Given the description of an element on the screen output the (x, y) to click on. 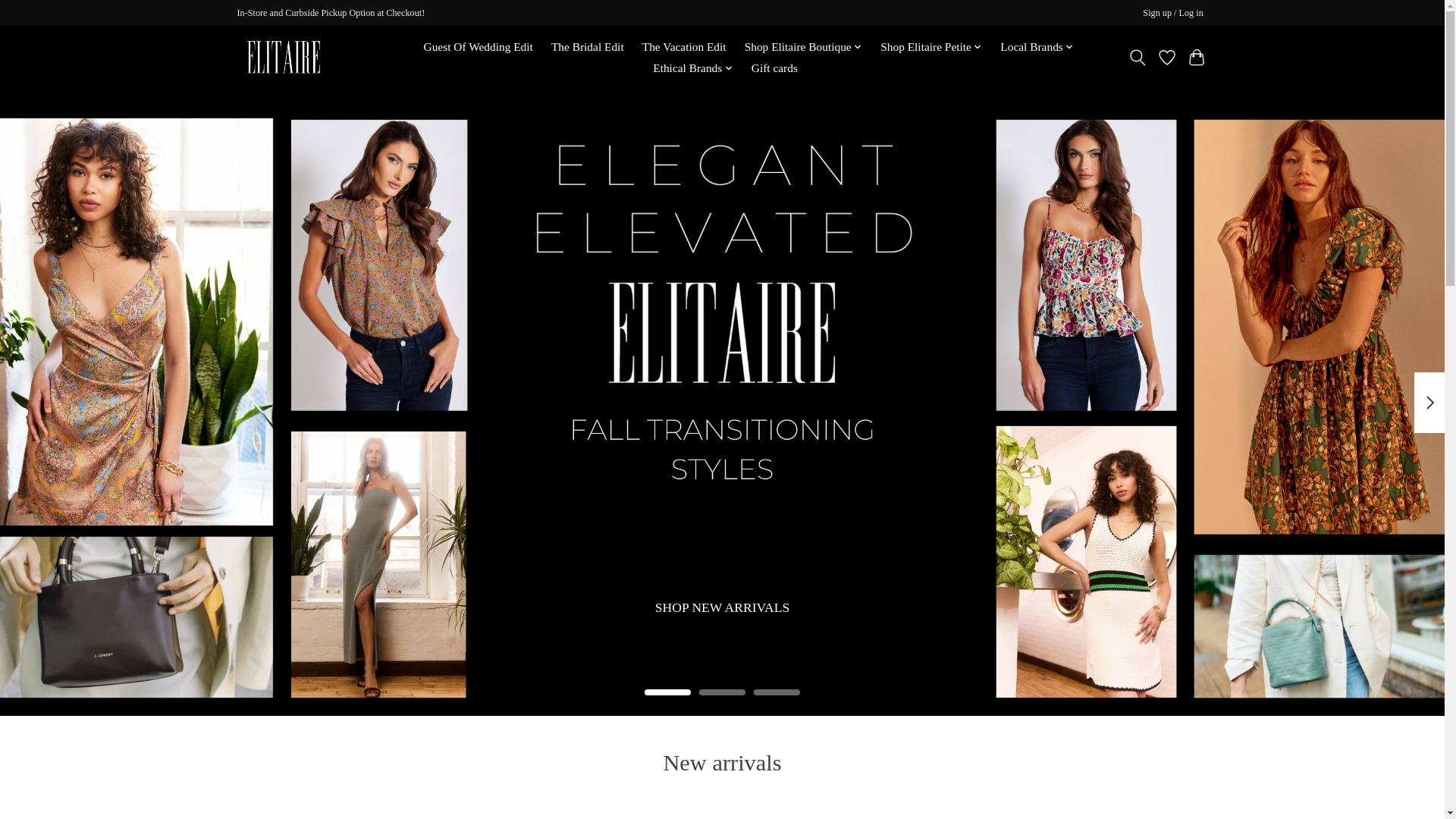
Elitaire Boutique Poseidon Duex in Matte Black (845, 816)
Shop Elitaire Boutique (802, 47)
Home (390, 47)
The Vacation Edit (684, 47)
Guest Of Wedding Edit (477, 47)
My account (1173, 13)
Elitaire Boutique Unreal in Toffee Tort (597, 816)
Elitaire Boutique Chante in Black (1093, 816)
Elitaire Boutique Velodrome in Black (349, 816)
The Bridal Edit (587, 47)
Elitaire Boutique (282, 57)
